Given the description of an element on the screen output the (x, y) to click on. 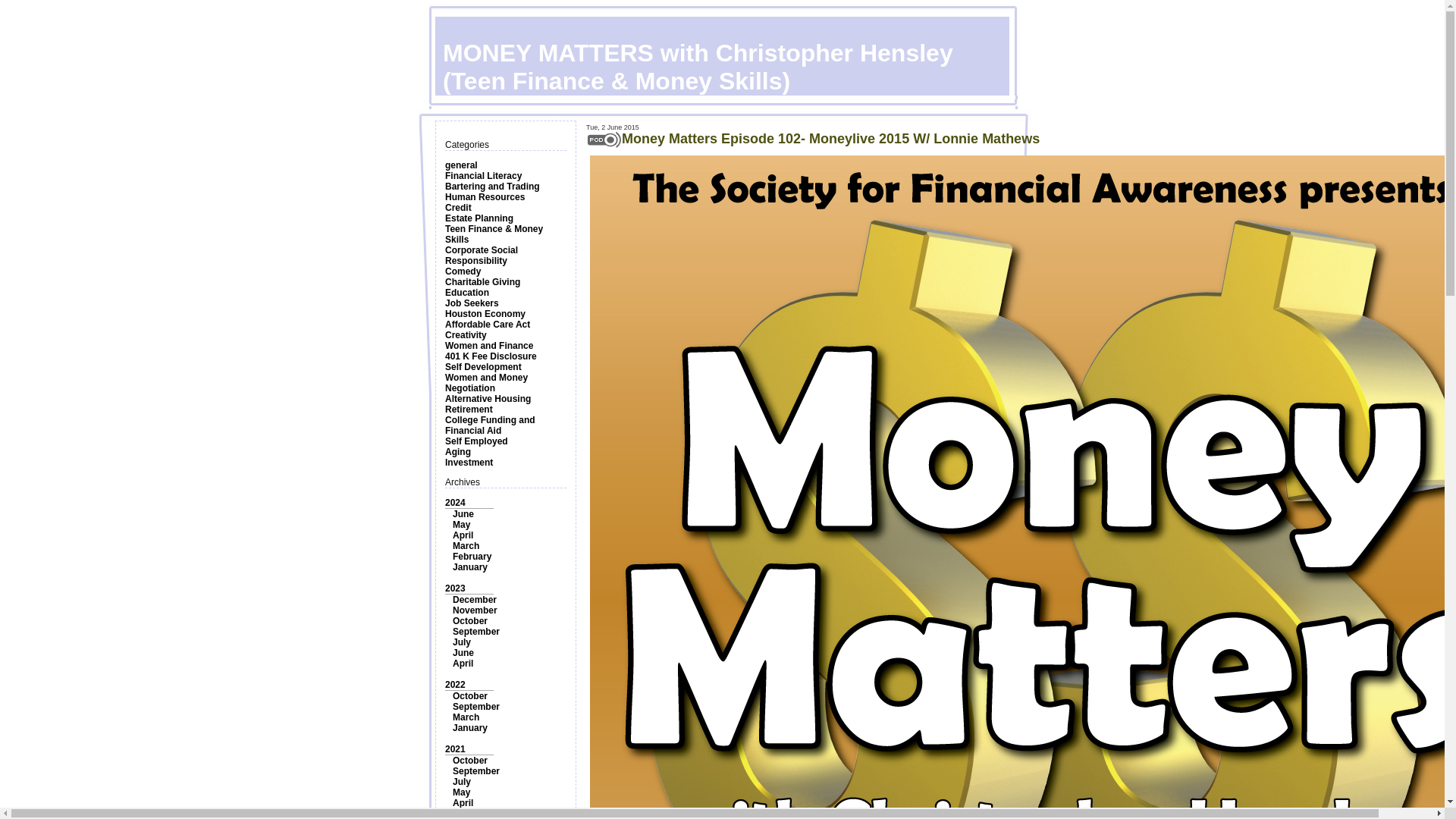
Self Development (483, 366)
January (469, 566)
November (474, 610)
Women and Money (486, 377)
Negotiation (470, 388)
Job Seekers (472, 303)
Alternative Housing (488, 398)
October (469, 620)
Investment (469, 462)
December (474, 599)
